Given the description of an element on the screen output the (x, y) to click on. 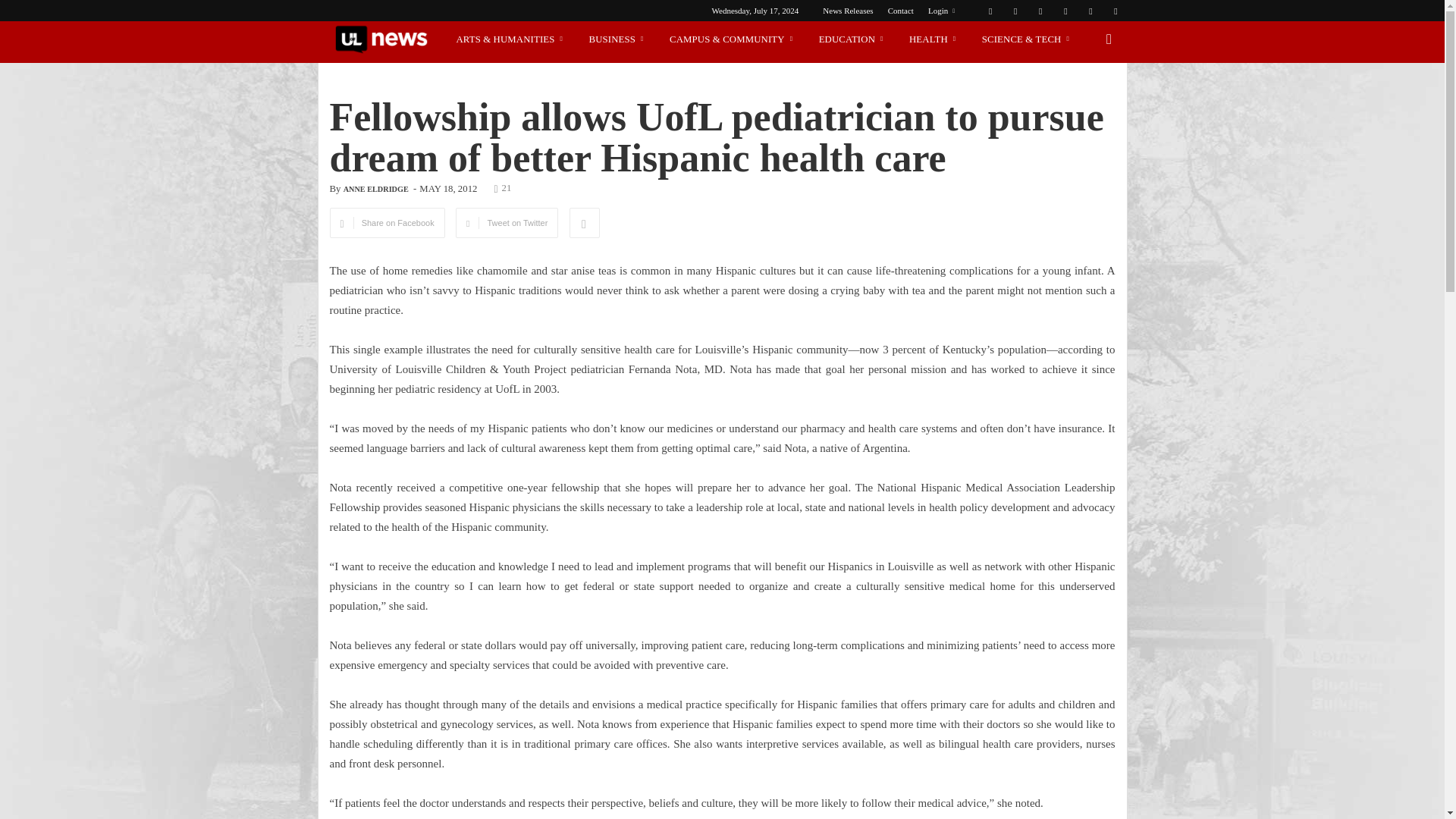
UofL News (381, 38)
Youtube (1114, 10)
News Releases (847, 10)
Login (941, 10)
Facebook (989, 10)
Linkedin (1040, 10)
Mail (1065, 10)
Flickr (1015, 10)
Contact (901, 10)
Twitter (1090, 10)
